Given the description of an element on the screen output the (x, y) to click on. 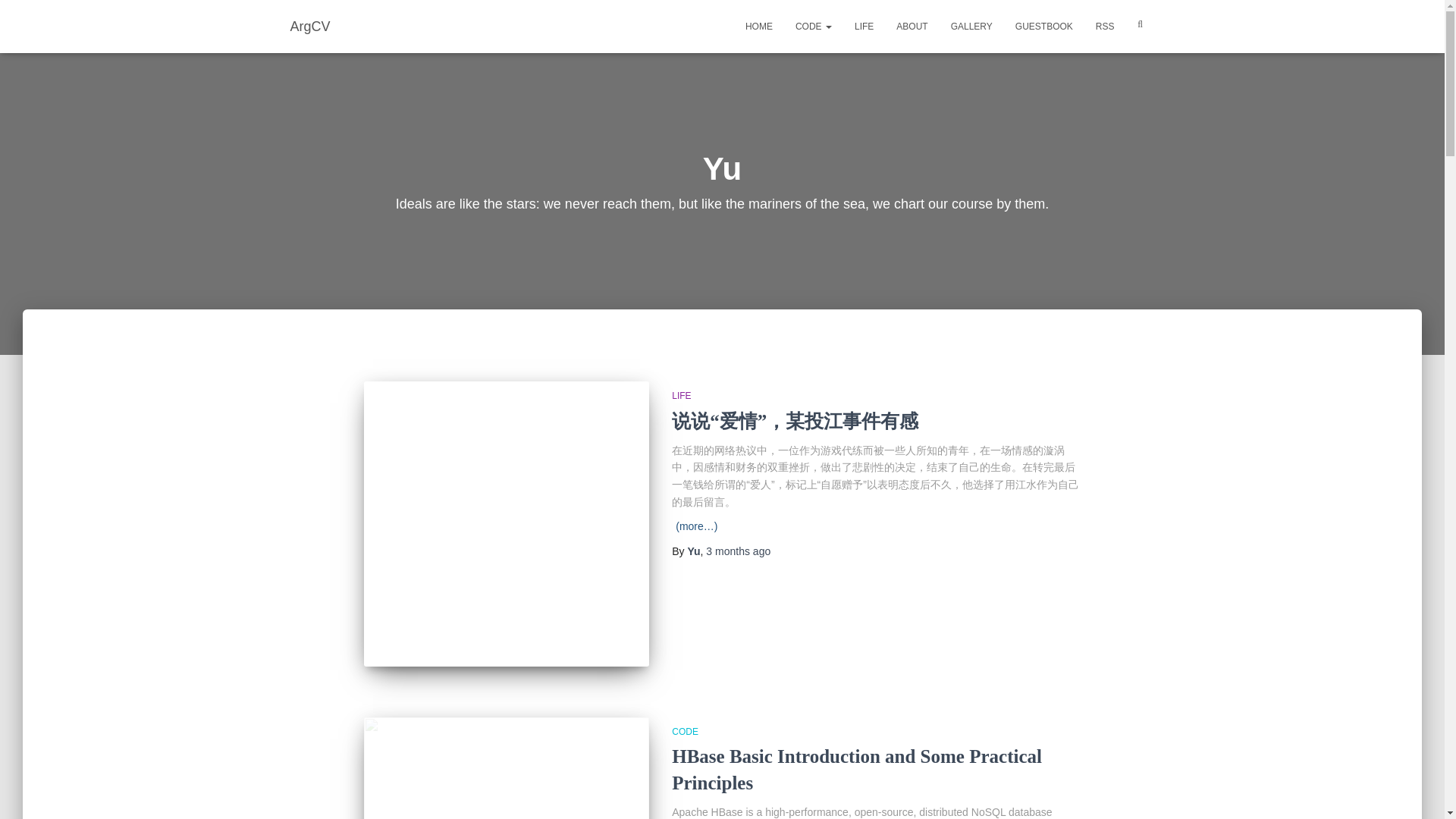
3 months ago (738, 551)
Life (864, 26)
CODE (684, 731)
ArgCV (310, 26)
Gallery (971, 26)
GALLERY (971, 26)
Home (758, 26)
About (912, 26)
Search (16, 16)
ABOUT (912, 26)
HOME (758, 26)
ArgCV (310, 26)
Guestbook (1044, 26)
Yu (693, 551)
HBase Basic Introduction and Some Practical Principles (856, 769)
